Given the description of an element on the screen output the (x, y) to click on. 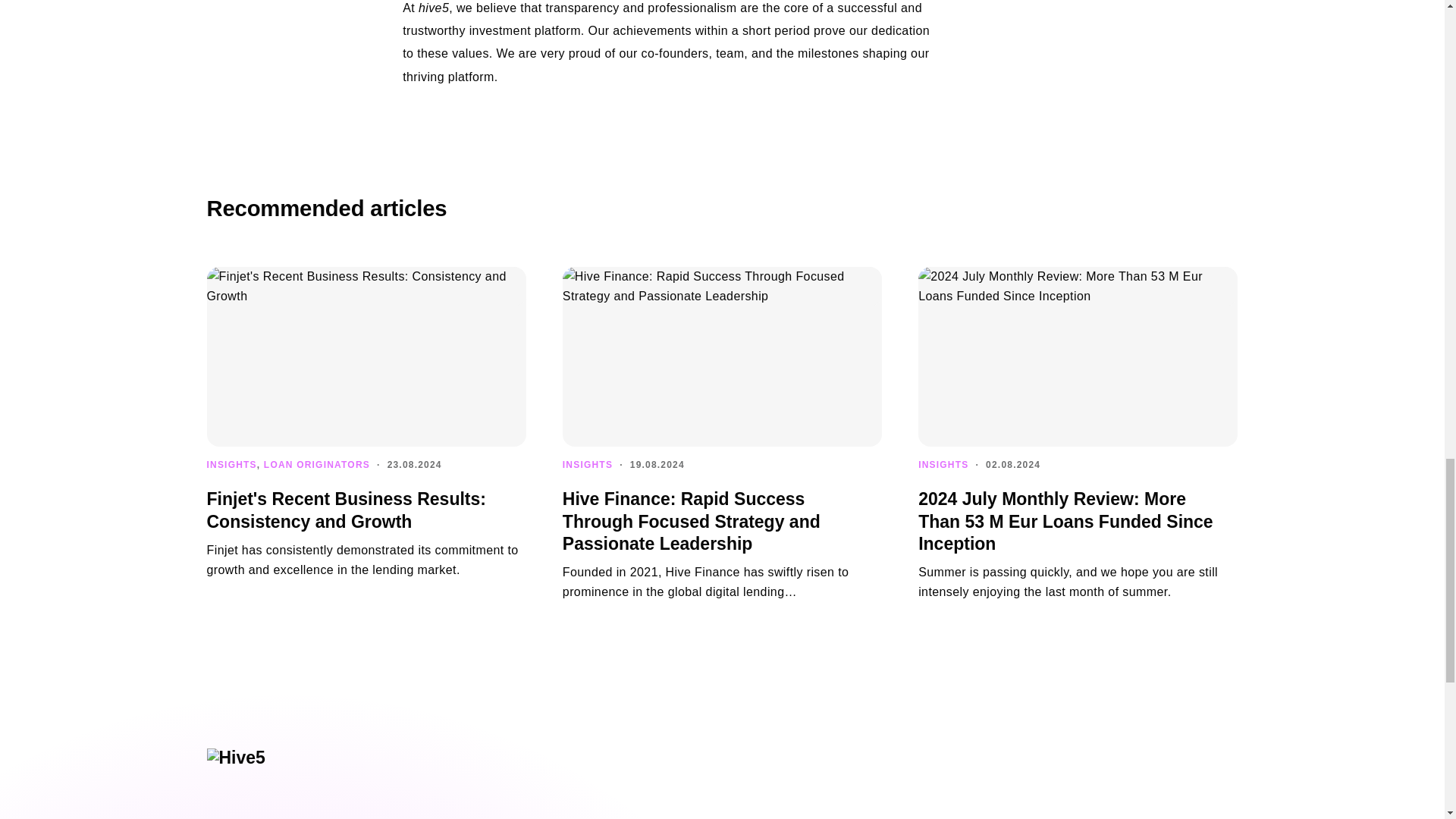
INSIGHTS (587, 464)
INSIGHTS (231, 464)
INSIGHTS (943, 464)
LOAN ORIGINATORS (316, 464)
Finjet's Recent Business Results: Consistency and Growth (345, 509)
